Given the description of an element on the screen output the (x, y) to click on. 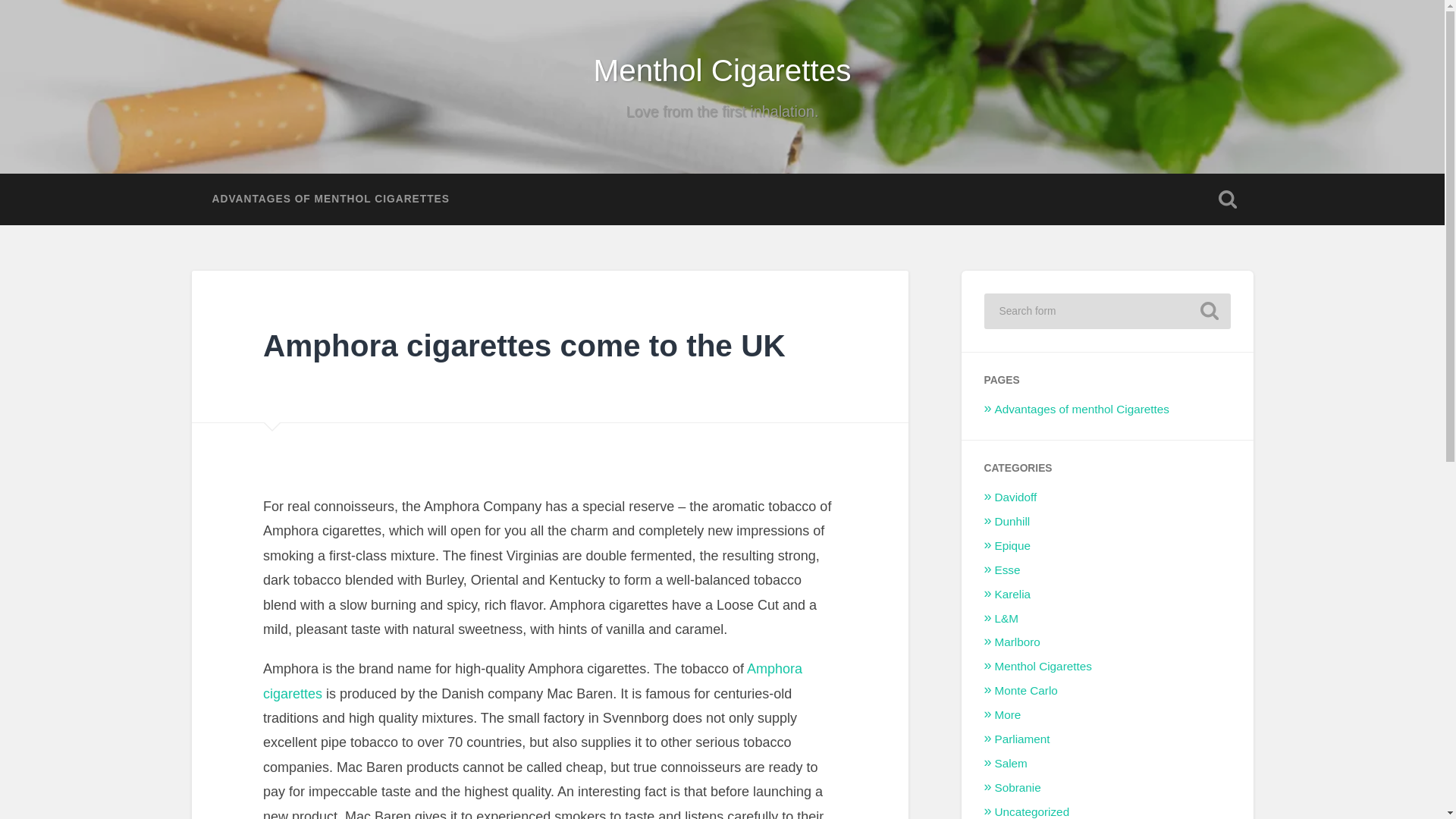
Monte Carlo (1026, 689)
Epique (1012, 545)
Sobranie (1017, 787)
Amphora cigarettes come to the UK (524, 345)
Search (1209, 310)
Amphora cigarettes (532, 680)
Salem (1010, 762)
Esse (1007, 569)
Davidoff (1015, 496)
Parliament (1021, 738)
